Given the description of an element on the screen output the (x, y) to click on. 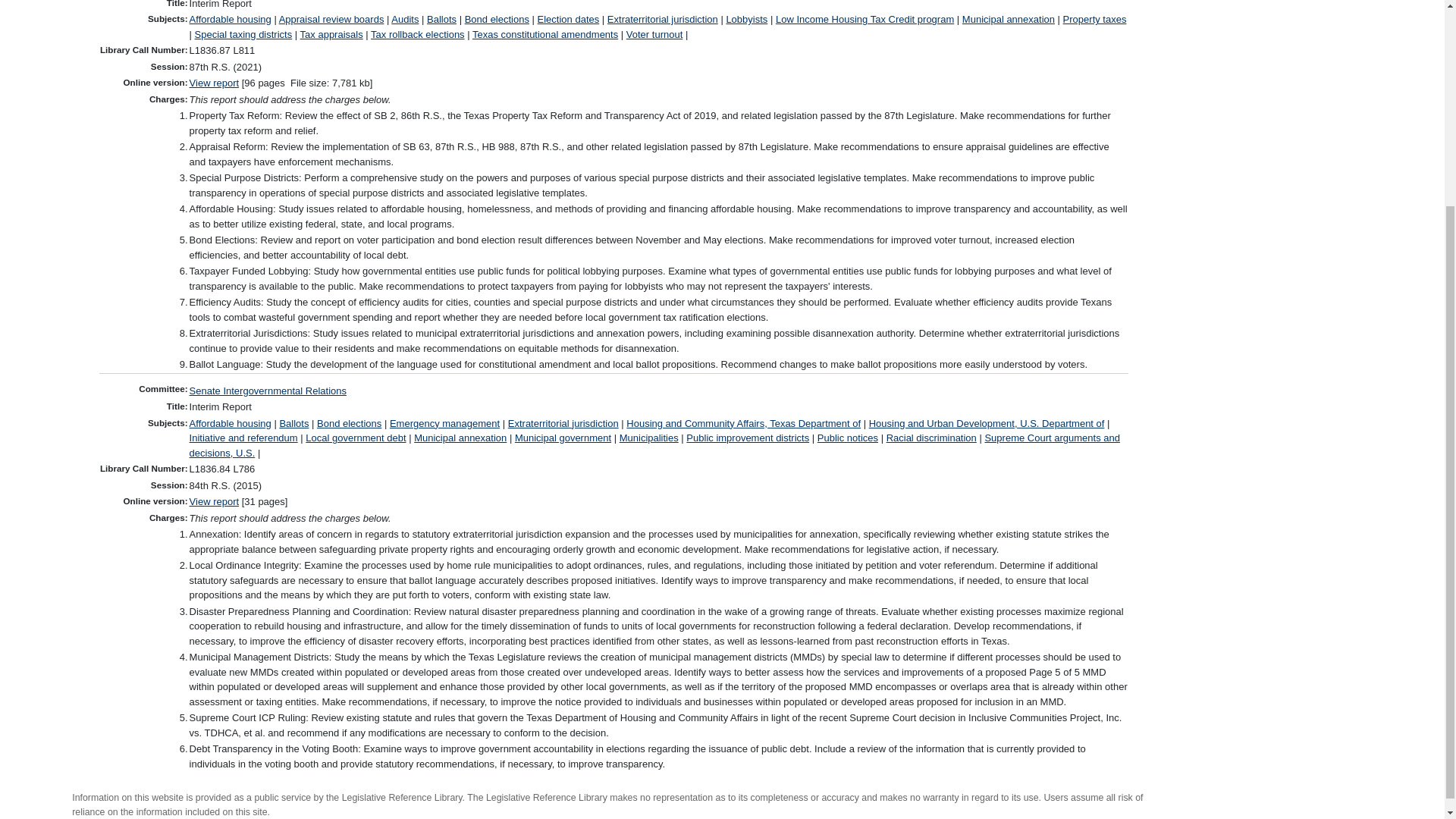
Other reports addressing: Audits (405, 19)
Other reports addressing: Special taxing districts (243, 34)
Other reports addressing: Election dates (568, 19)
Other reports addressing: Property taxes (1094, 19)
Other reports addressing: Affordable housing (229, 19)
Other reports addressing: Appraisal review boards (331, 19)
Other reports addressing: Tax appraisals (330, 34)
Other reports addressing: Texas constitutional amendments (544, 34)
Other reports addressing: Ballots (441, 19)
